Given the description of an element on the screen output the (x, y) to click on. 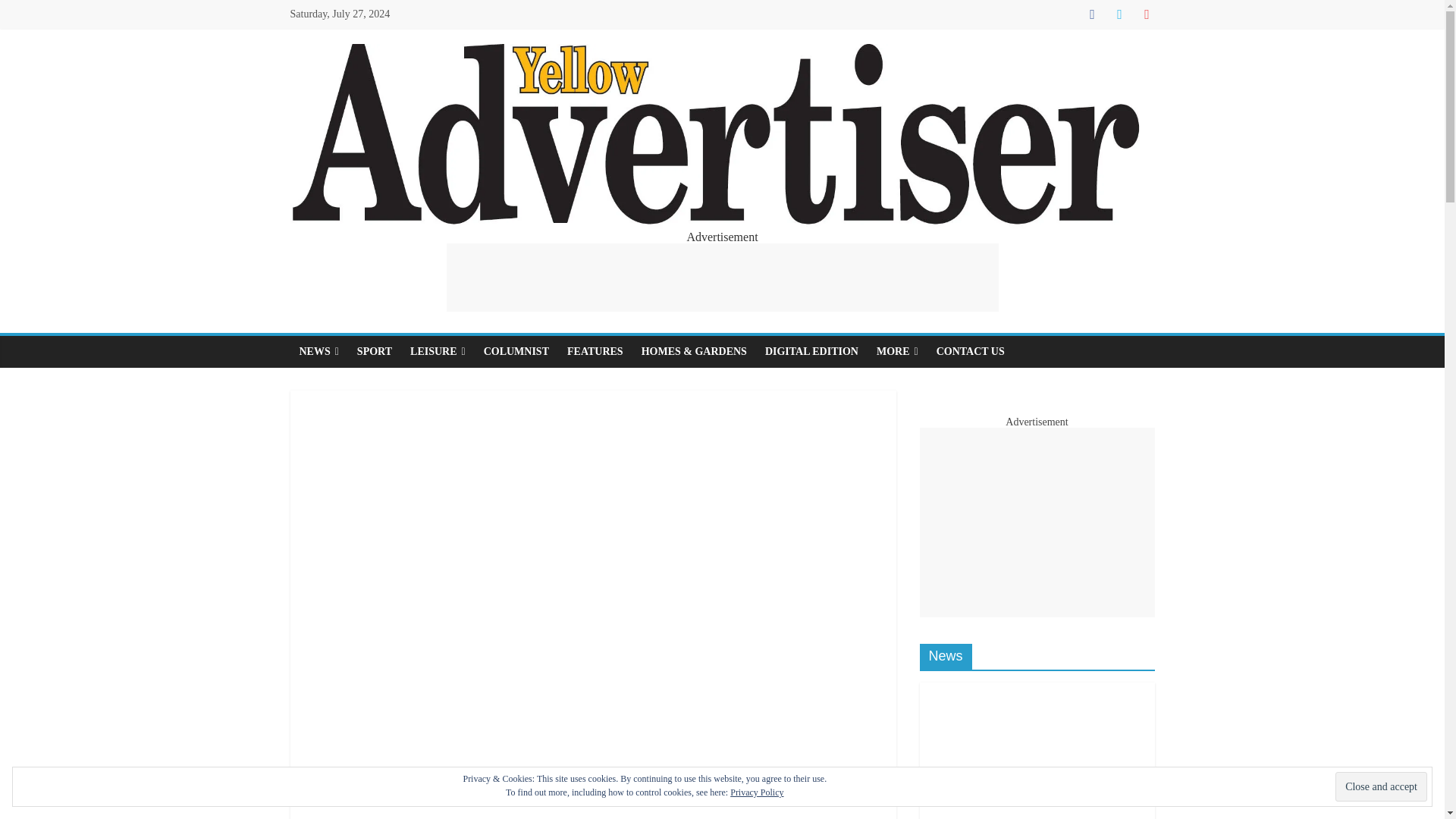
FEATURES (594, 351)
LEISURE (437, 351)
SPORT (374, 351)
Close and accept (1380, 786)
NEWS (318, 351)
MORE (897, 351)
COLUMNIST (515, 351)
DIGITAL EDITION (811, 351)
